Given the description of an element on the screen output the (x, y) to click on. 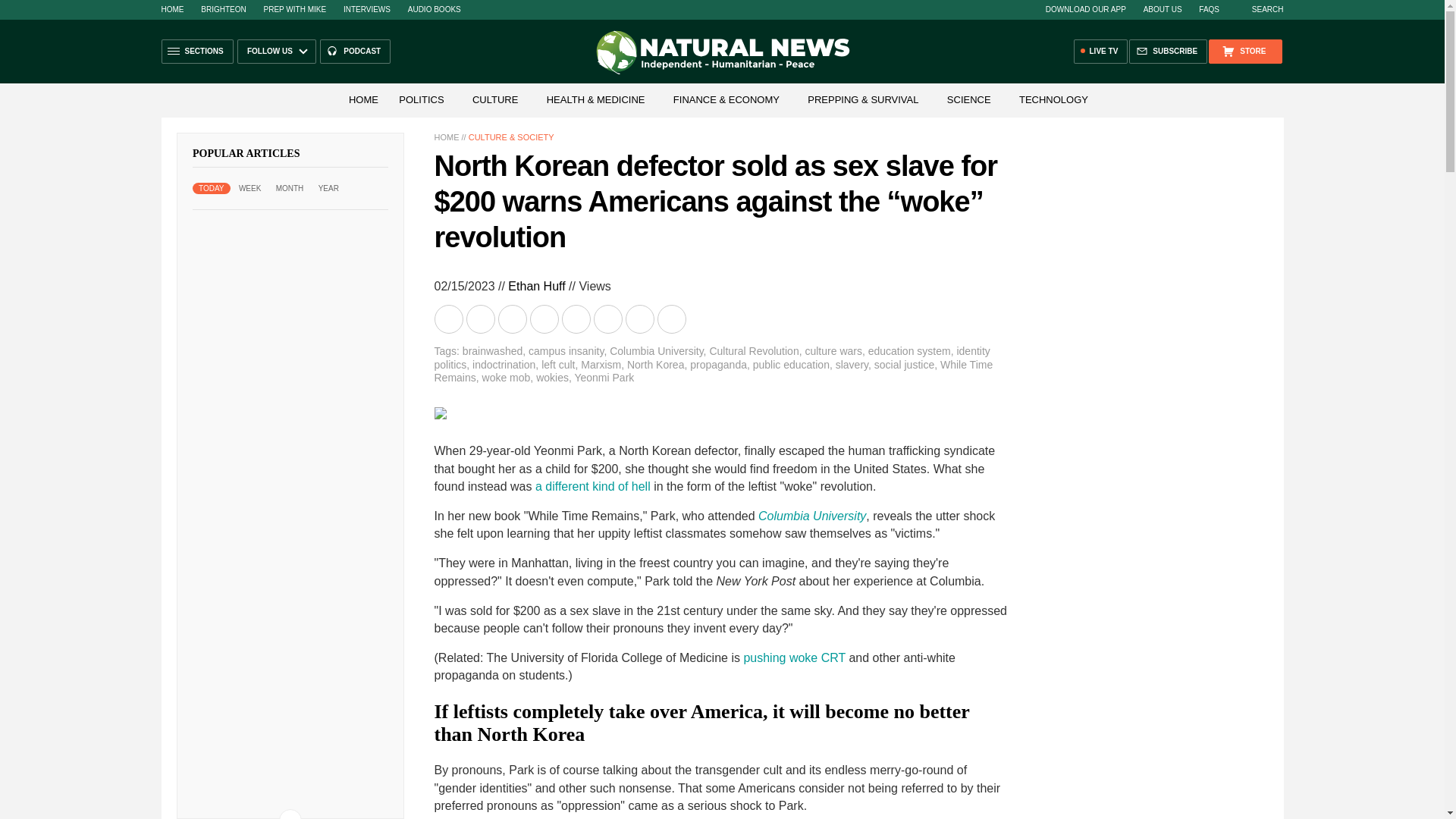
Share on Truth.Social (608, 318)
DOWNLOAD OUR APP (1085, 8)
LIVE TV (1101, 51)
CULTURE (495, 99)
SEARCH (1260, 8)
Scroll Down (290, 814)
Share on Gettr (640, 318)
HOME (445, 136)
HOME (363, 99)
Share on Telegram (544, 318)
